Given the description of an element on the screen output the (x, y) to click on. 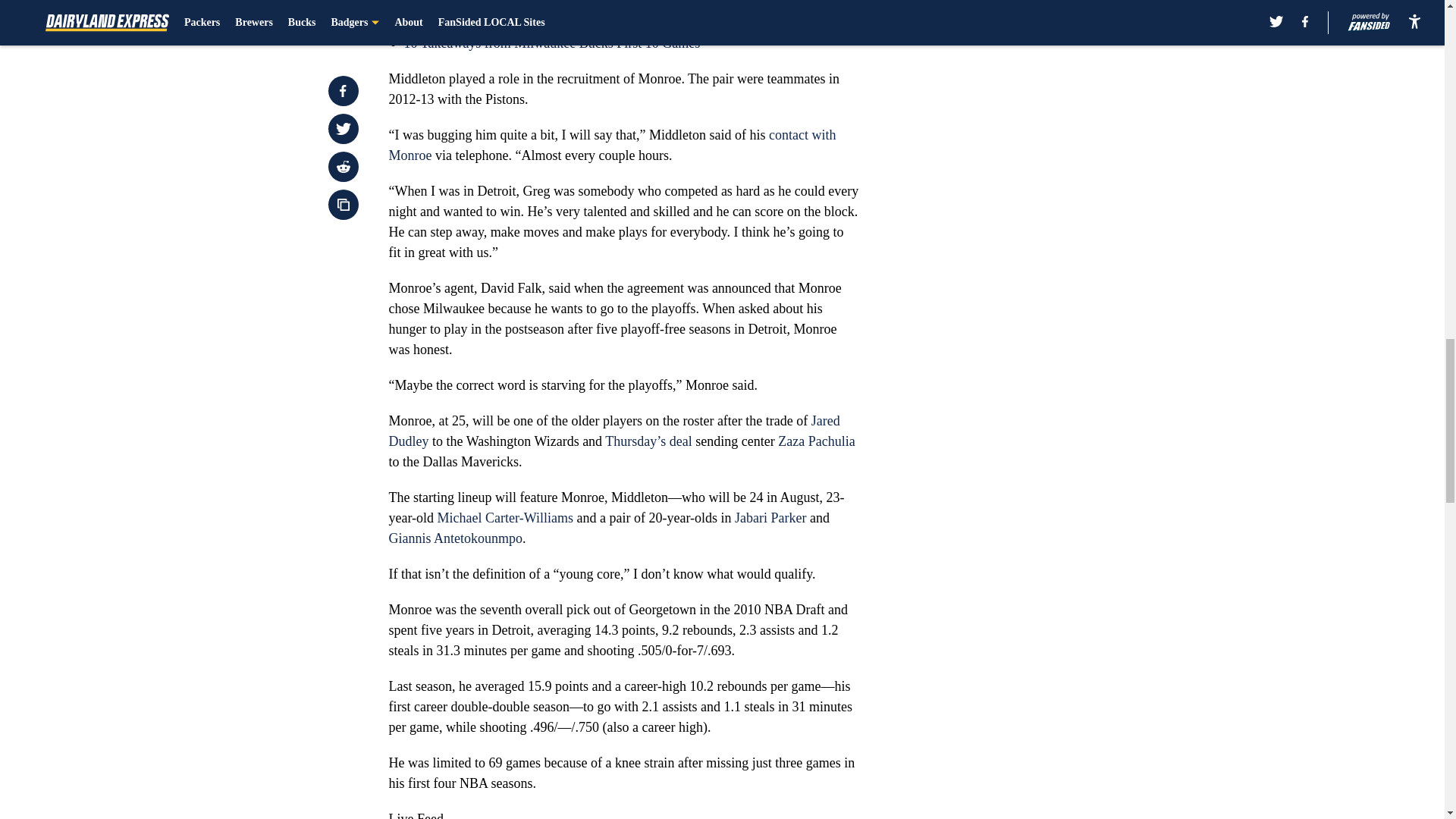
Jabari Parker (770, 517)
Zaza Pachulia (815, 441)
contact with Monroe (611, 144)
10 Takeaways from Milwaukee Bucks First 10 Games (551, 43)
Giannis Antetokounmpo (455, 538)
Jared Dudley (614, 430)
Michael Carter-Williams (505, 517)
